Given the description of an element on the screen output the (x, y) to click on. 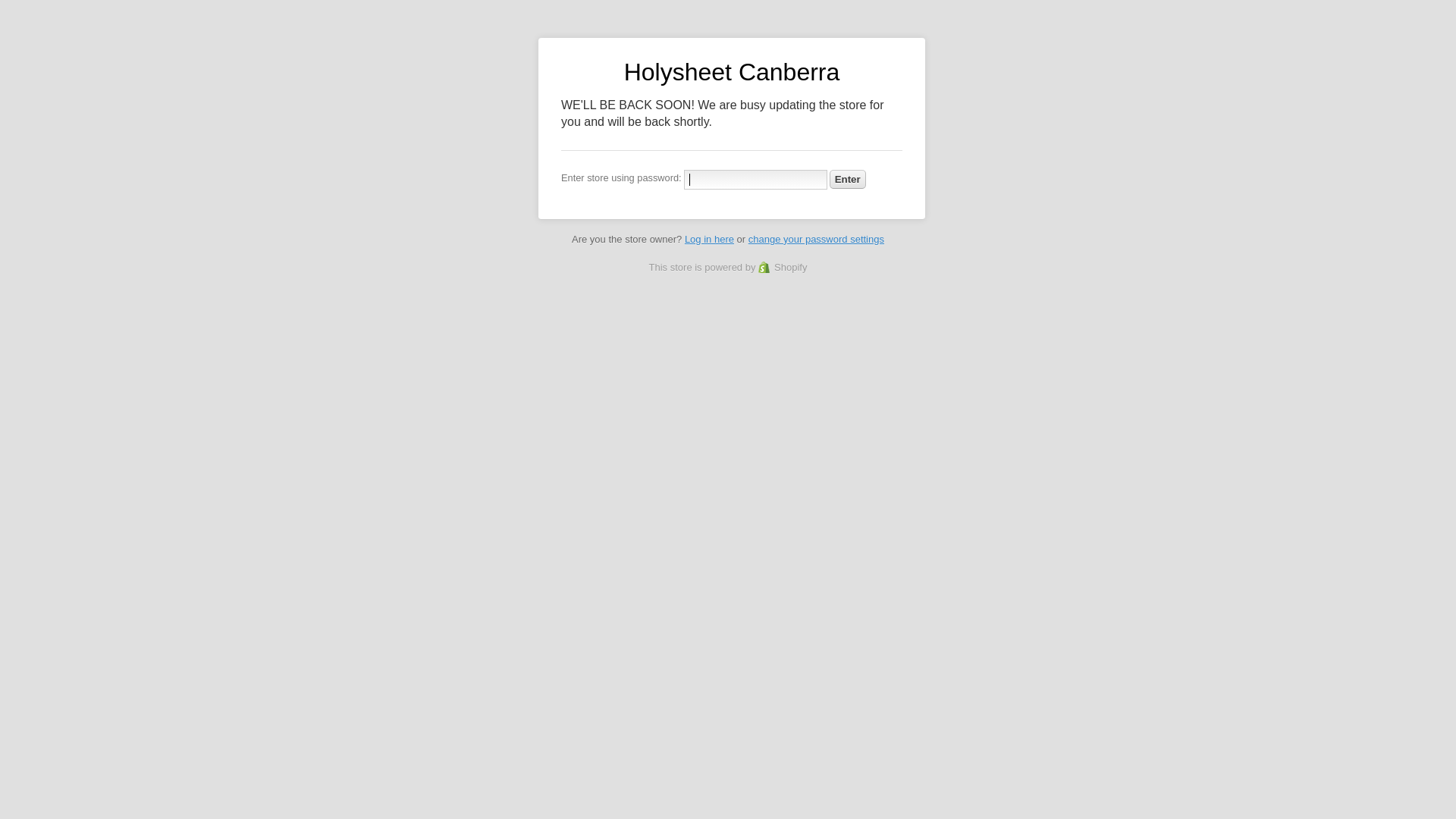
Enter Element type: text (847, 178)
Shopify Element type: text (782, 267)
Log in here Element type: text (709, 238)
change your password settings Element type: text (816, 238)
